Given the description of an element on the screen output the (x, y) to click on. 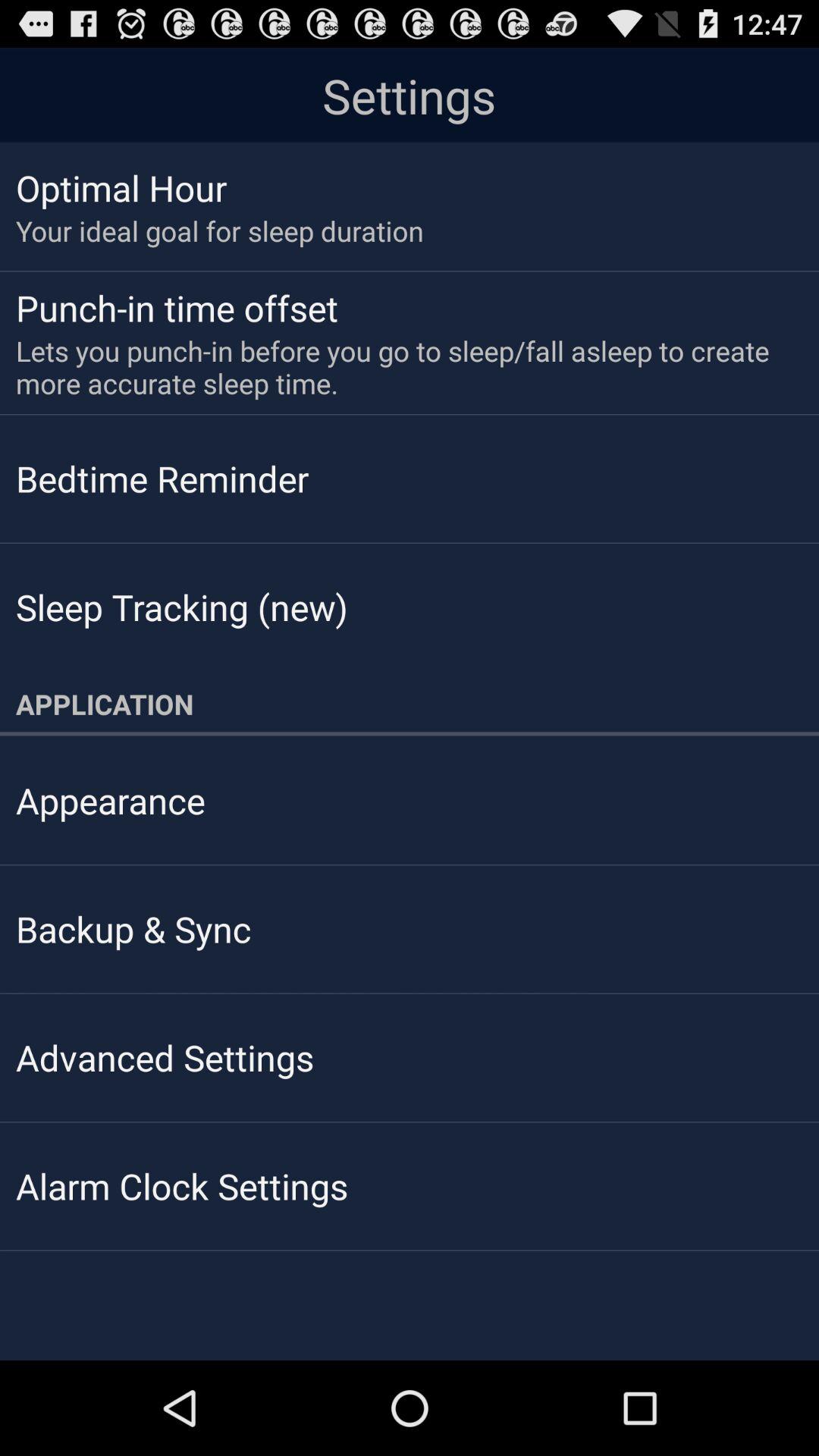
jump until the alarm clock settings (181, 1185)
